Given the description of an element on the screen output the (x, y) to click on. 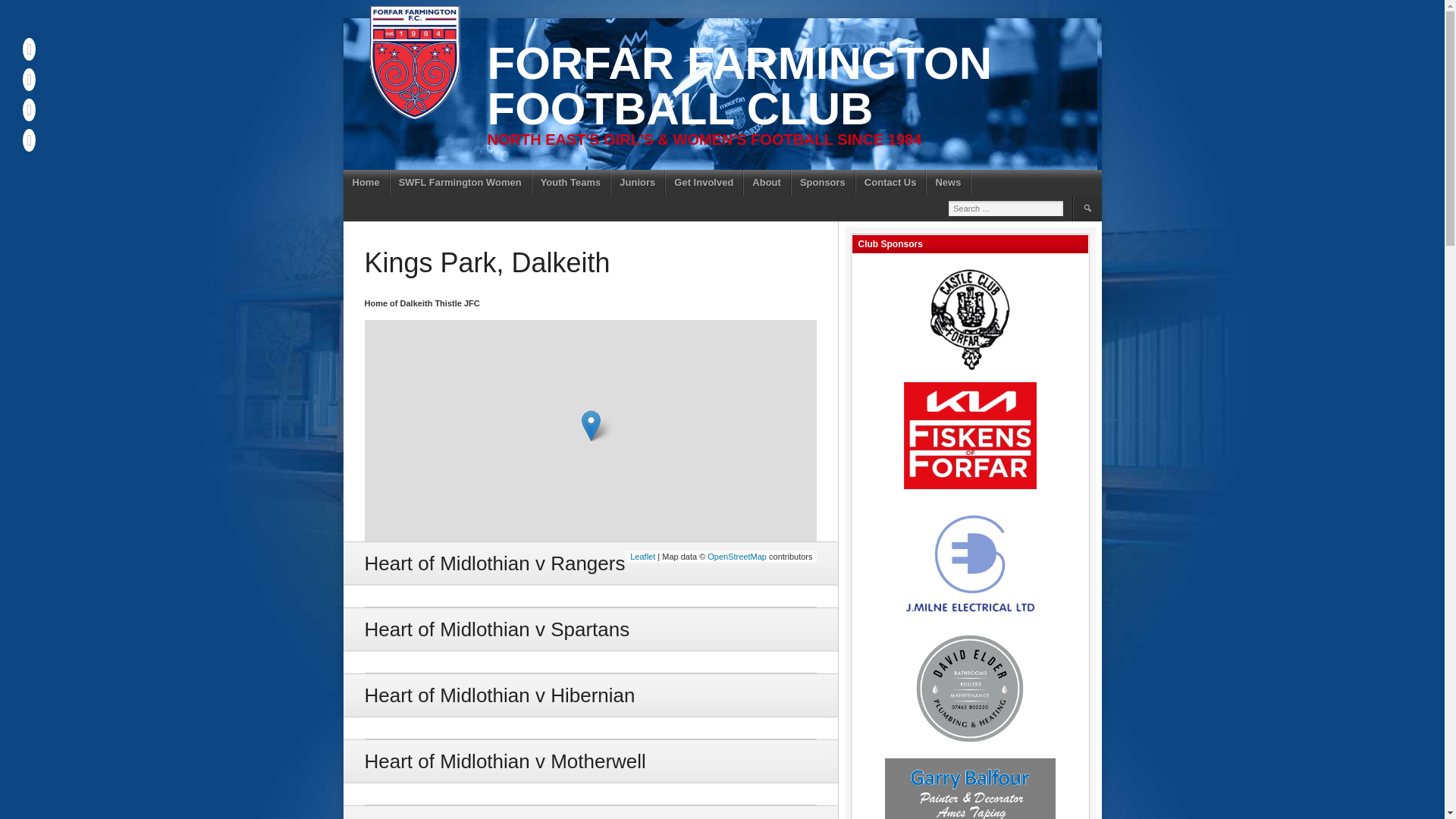
OpenStreetMap (737, 556)
News (948, 182)
Youth Teams (571, 182)
FORFAR FARMINGTON FOOTBALL CLUB (738, 85)
The Castle Club (969, 317)
SWFL Farmington Women (460, 182)
A JS library for interactive maps (642, 556)
Juniors (637, 182)
About (766, 182)
Garry Balfour (969, 788)
Sponsors (823, 182)
Home (365, 182)
Kia Fiskens of Forfar (969, 435)
David Elder (969, 688)
